Given the description of an element on the screen output the (x, y) to click on. 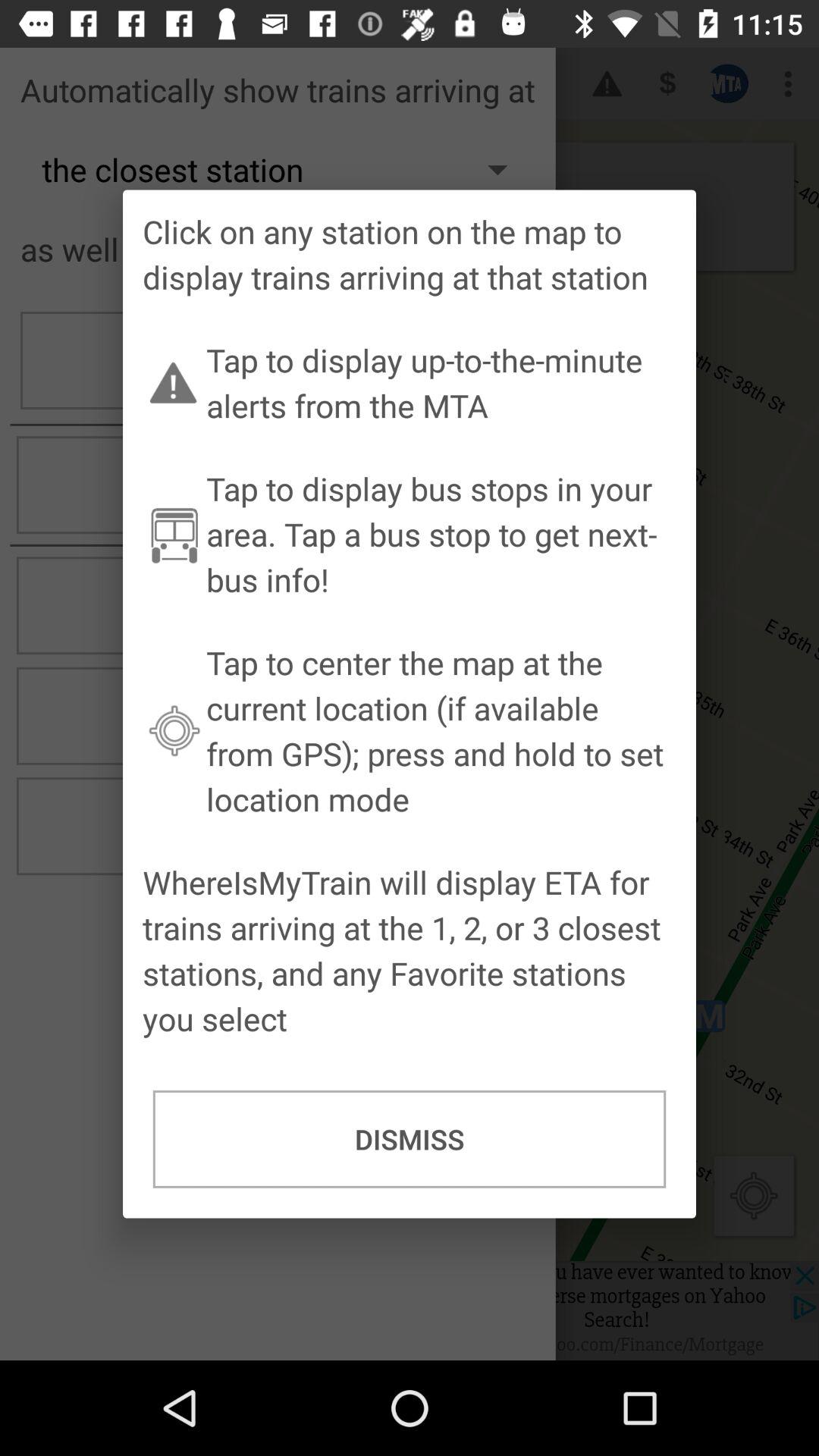
launch the item at the bottom (409, 1139)
